Given the description of an element on the screen output the (x, y) to click on. 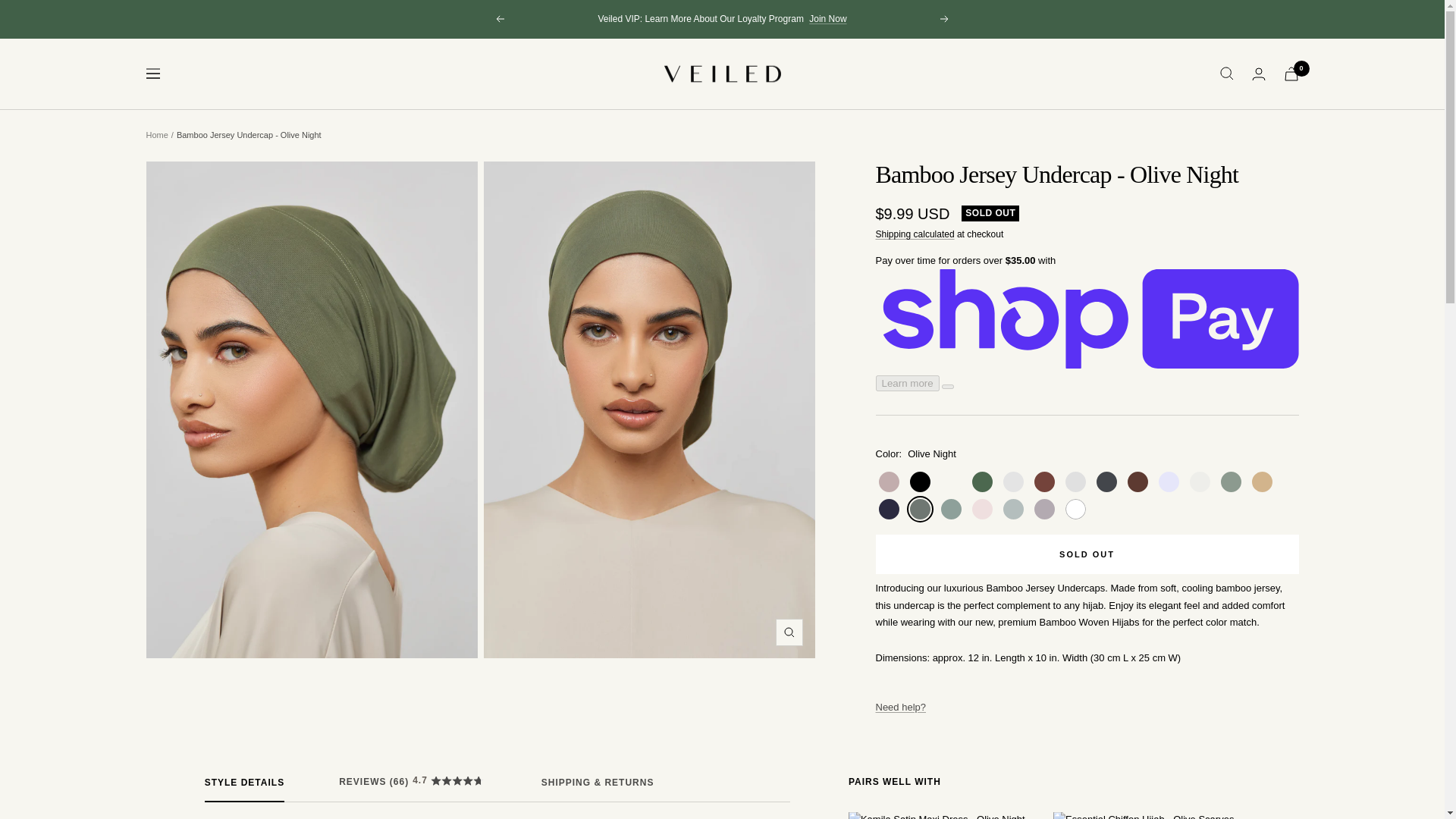
Navigation (151, 72)
0 (1290, 73)
Home (156, 134)
Next (944, 18)
Muted Basel (1230, 481)
Cocoa Brown (1044, 481)
Join Now (827, 19)
Cloud (1012, 481)
